Given the description of an element on the screen output the (x, y) to click on. 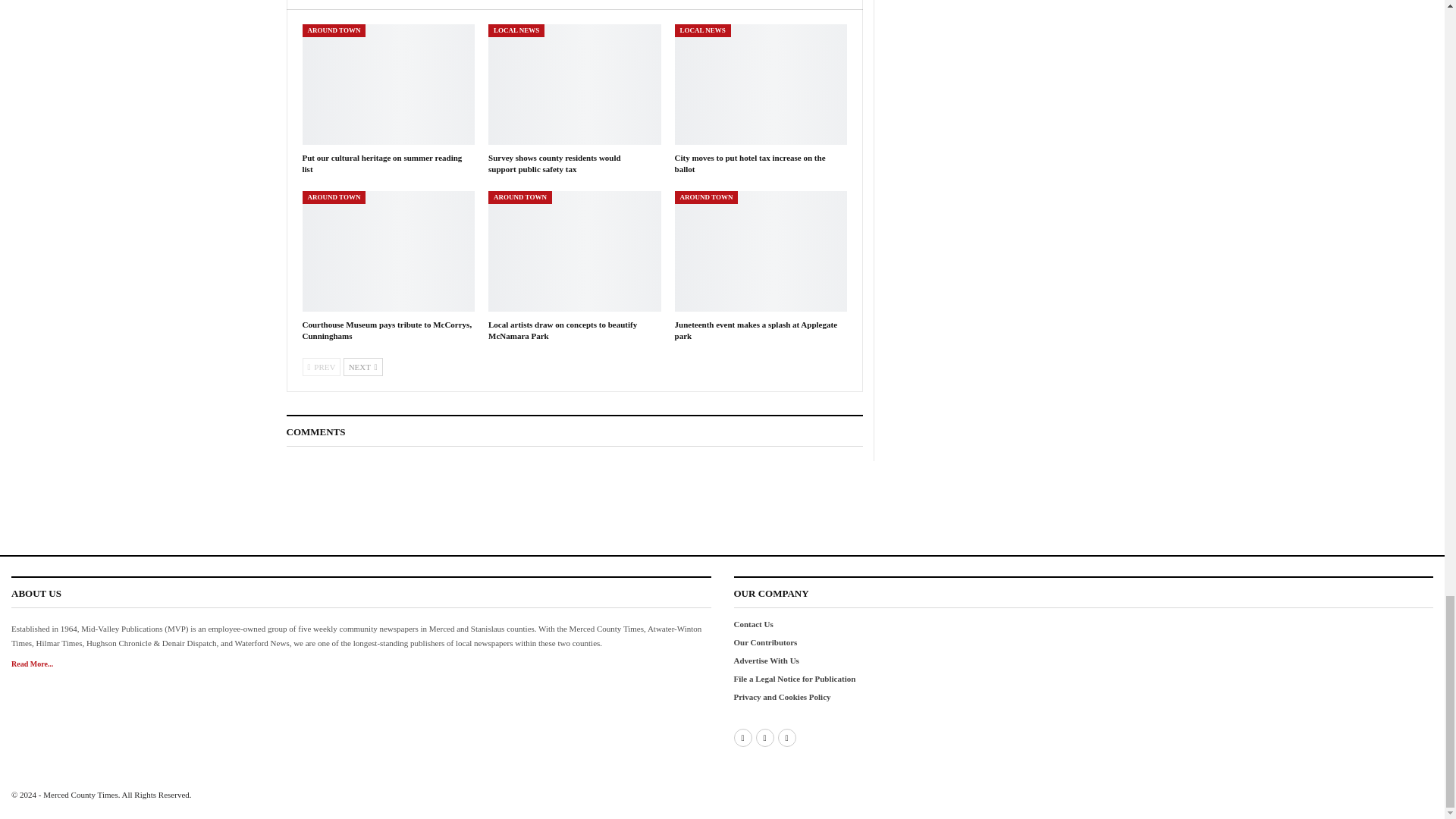
Courthouse Museum pays tribute to McCorrys, Cunninghams (387, 251)
City moves to put hotel tax increase on the ballot (761, 84)
Juneteenth event makes a splash at Applegate park (761, 251)
Local artists draw on concepts  to beautify McNamara Park (574, 251)
Courthouse Museum pays tribute to McCorrys, Cunninghams (386, 330)
Put our cultural heritage on summer reading list (387, 84)
Local artists draw on concepts  to beautify McNamara Park (562, 330)
Put our cultural heritage on summer reading list (381, 163)
City moves to put hotel tax increase on the ballot (750, 163)
